Given the description of an element on the screen output the (x, y) to click on. 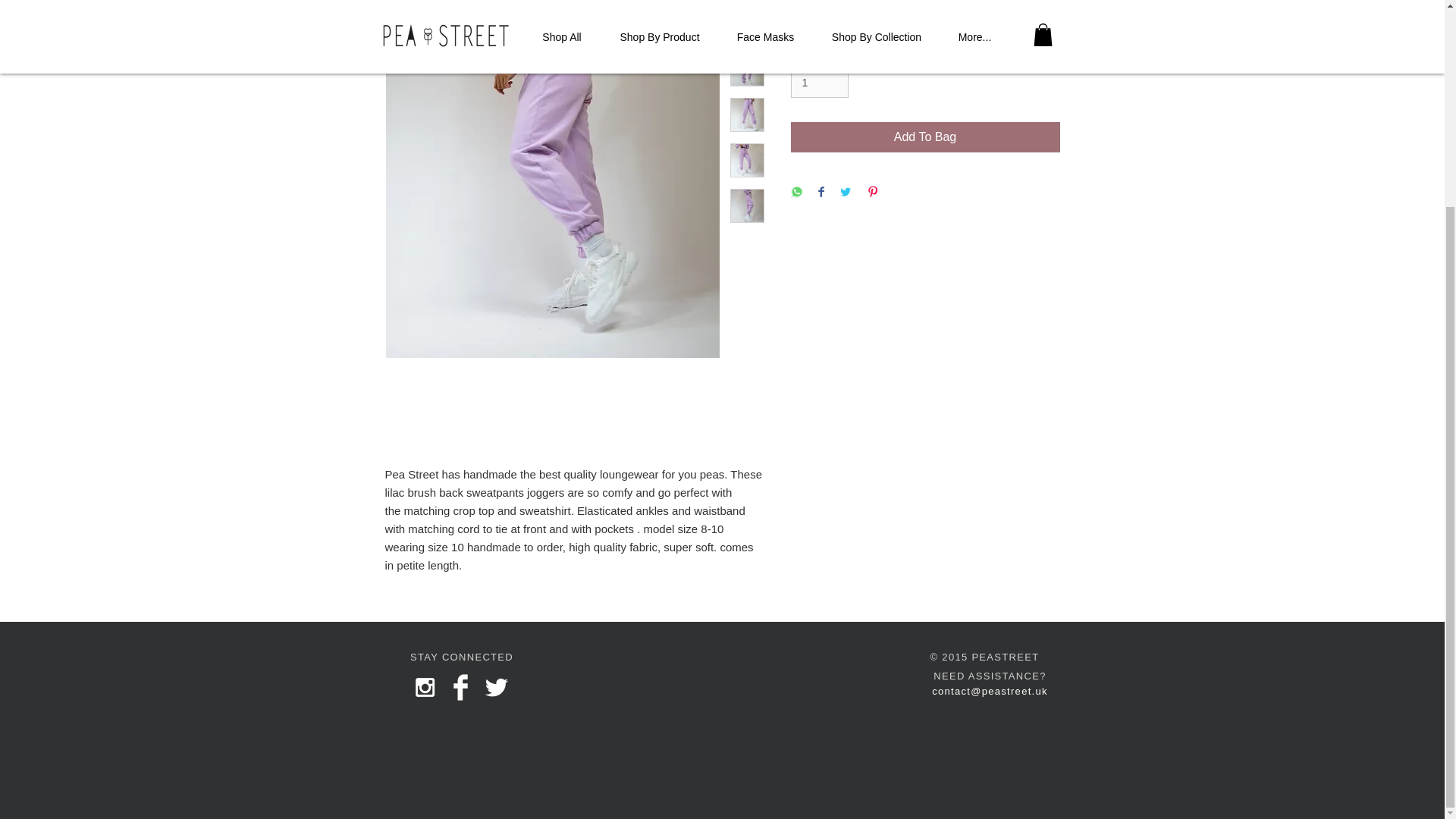
1 (818, 81)
